Given the description of an element on the screen output the (x, y) to click on. 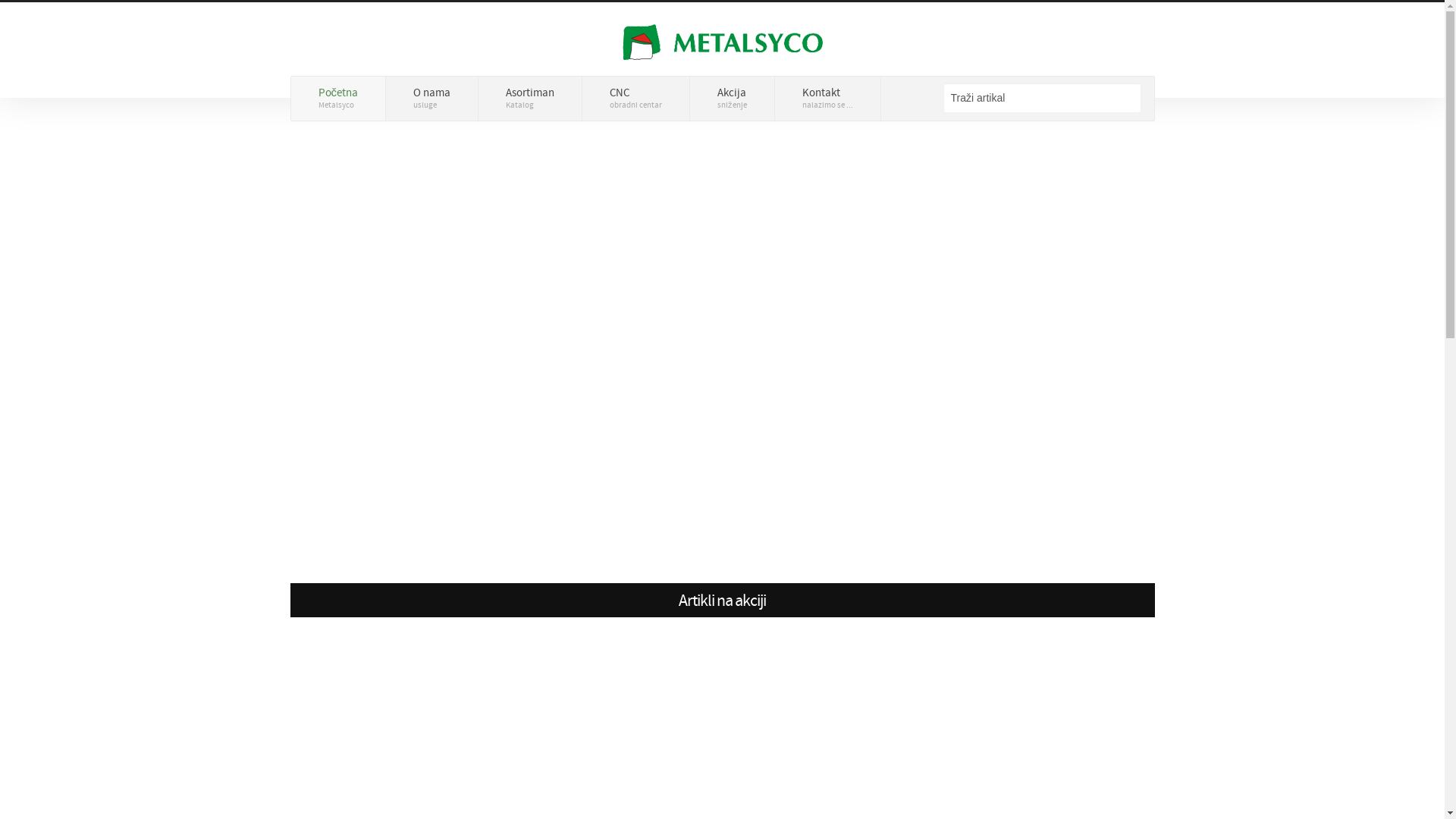
Asortiman
Katalog Element type: text (530, 98)
Kontakt
nalazimo se ... Element type: text (828, 98)
Metalsyco Element type: text (722, 38)
CNC
obradni centar Element type: text (636, 98)
O nama
usluge Element type: text (431, 98)
